Given the description of an element on the screen output the (x, y) to click on. 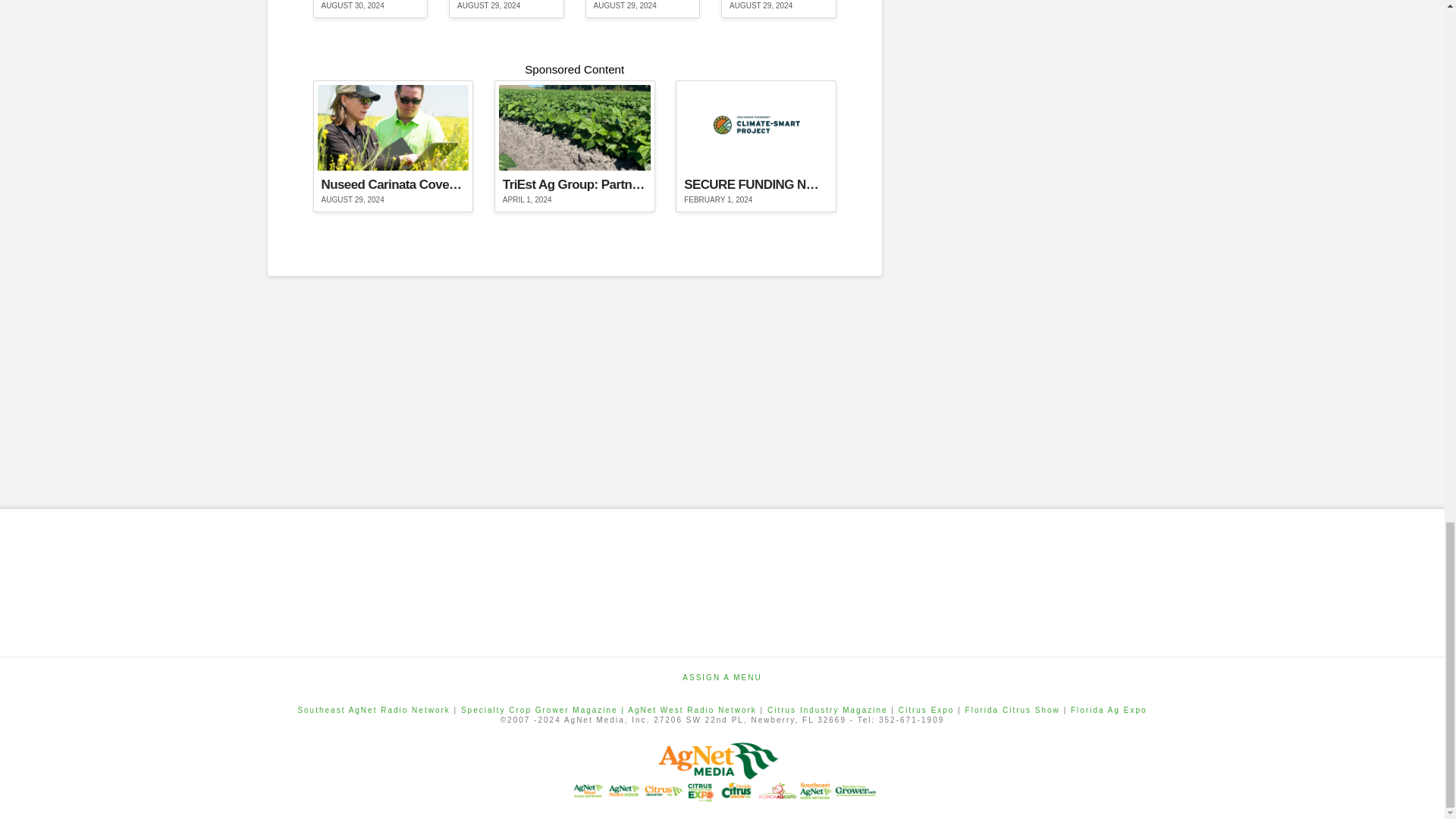
Permalink to: "Dry Alabama Looking for Much-Needed Rain" (506, 9)
Permalink to: "Nuseed Carinata Covers New Ground" (393, 146)
Permalink to: "TriEst Ag Group: Partners in Profitability" (575, 146)
